Given the description of an element on the screen output the (x, y) to click on. 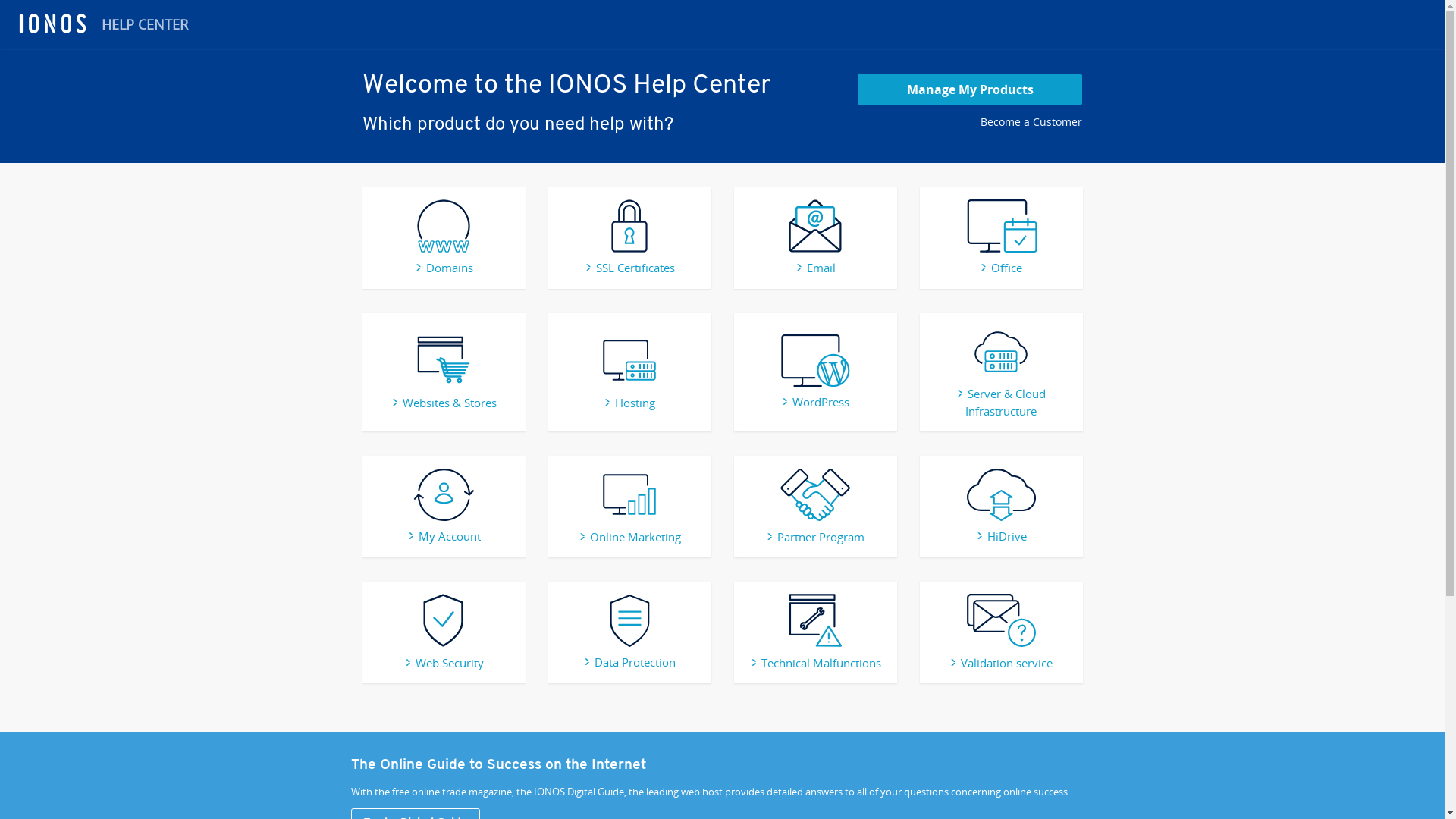
Partner Program Element type: text (814, 536)
Email Element type: text (814, 267)
Websites & Stores Element type: text (443, 402)
Manage My Products Element type: text (969, 89)
Technical Malfunctions Element type: text (814, 662)
SSL Certificates Element type: text (628, 267)
Become a Customer Element type: text (1031, 121)
HiDrive Element type: text (1000, 535)
Server & Cloud Infrastructure Element type: text (1000, 401)
Web Security Element type: text (443, 662)
Hosting Element type: text (629, 402)
Online Marketing Element type: text (628, 536)
Data Protection Element type: text (629, 661)
Office Element type: text (1000, 267)
WordPress Element type: text (815, 401)
Domains Element type: text (443, 267)
My Account Element type: text (443, 535)
Validation service Element type: text (1000, 662)
